Given the description of an element on the screen output the (x, y) to click on. 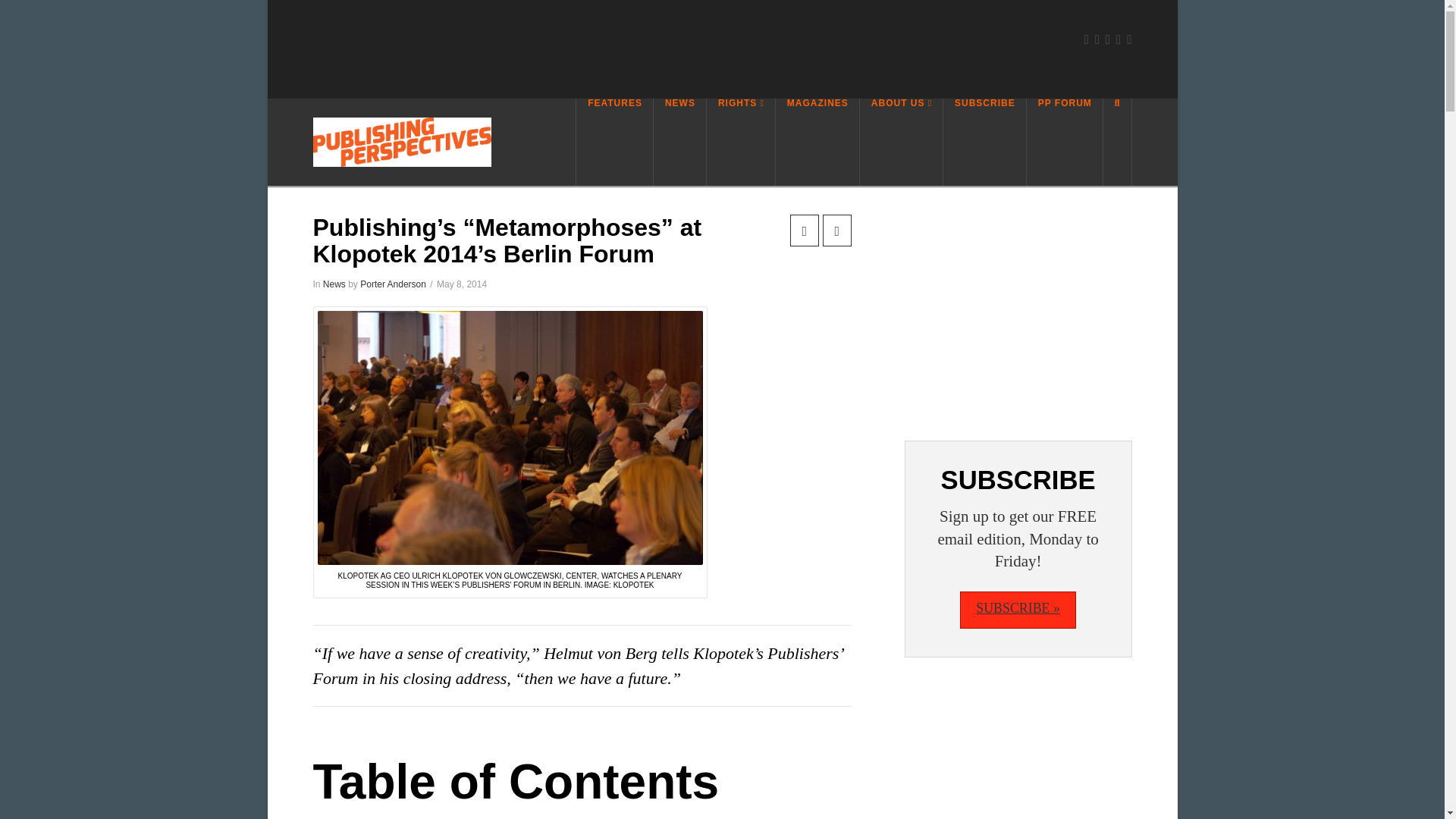
News (334, 284)
FEATURES (614, 141)
Porter Anderson (392, 284)
SUBSCRIBE (984, 141)
MAGAZINES (818, 141)
ABOUT US (901, 141)
